Given the description of an element on the screen output the (x, y) to click on. 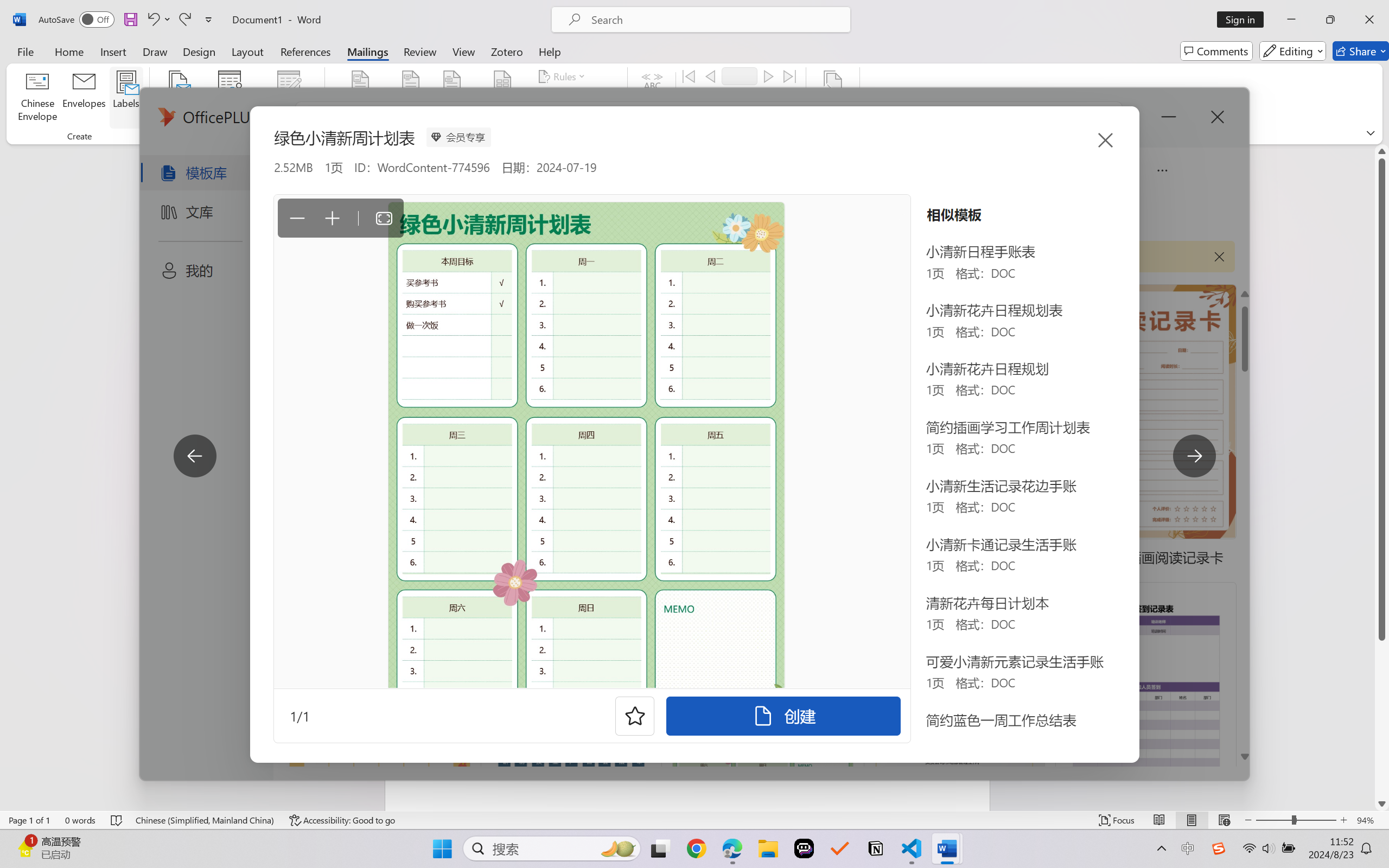
Finish & Merge (832, 97)
Chinese Envelope... (37, 97)
Labels... (126, 97)
Address Block... (410, 97)
